Given the description of an element on the screen output the (x, y) to click on. 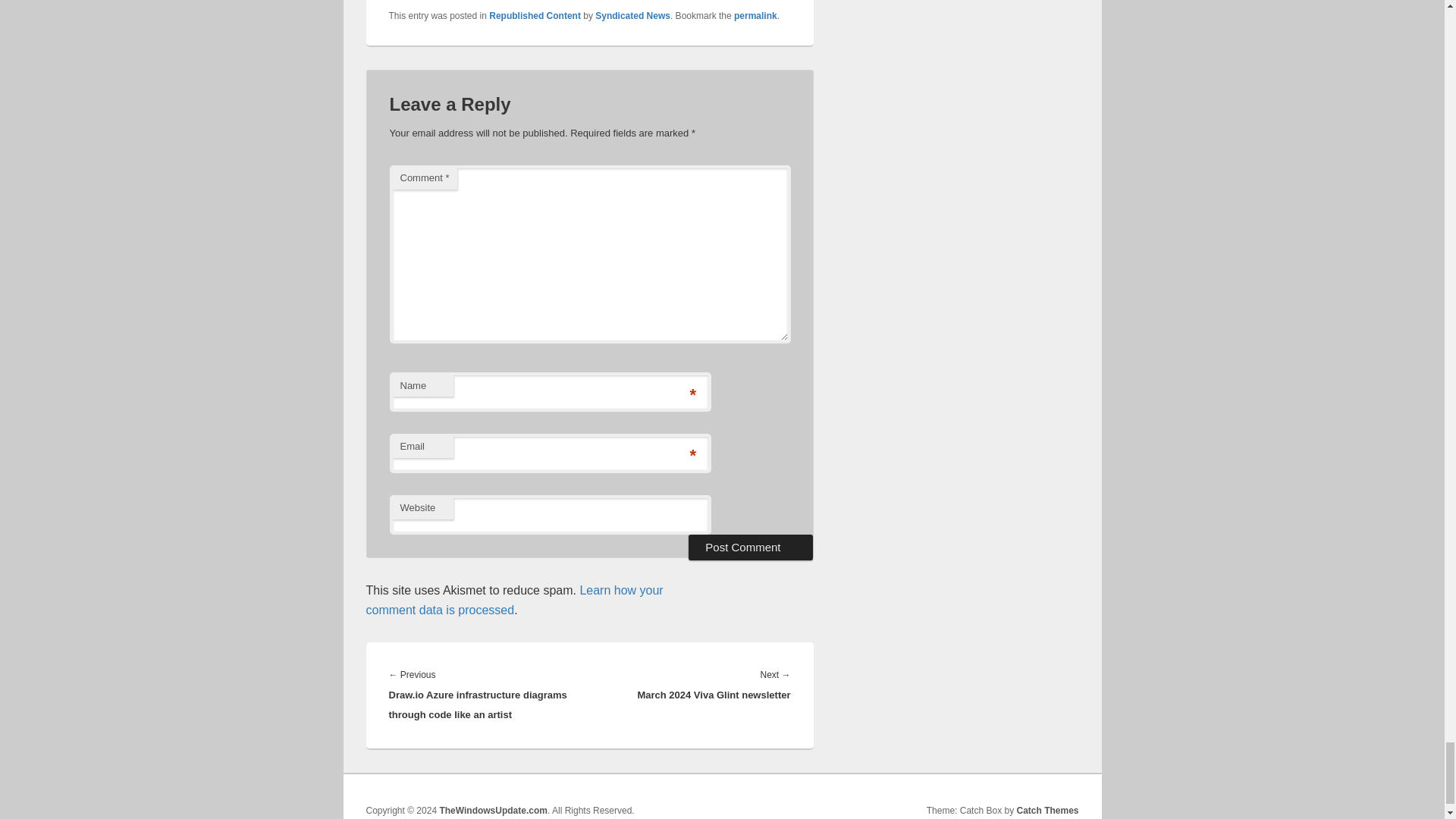
Post Comment (750, 547)
Syndicated News (632, 15)
Post Comment (750, 547)
Republished Content (534, 15)
Learn how your comment data is processed (513, 599)
permalink (755, 15)
TheWindowsUpdate.com (493, 810)
Catch Themes (1047, 810)
